Given the description of an element on the screen output the (x, y) to click on. 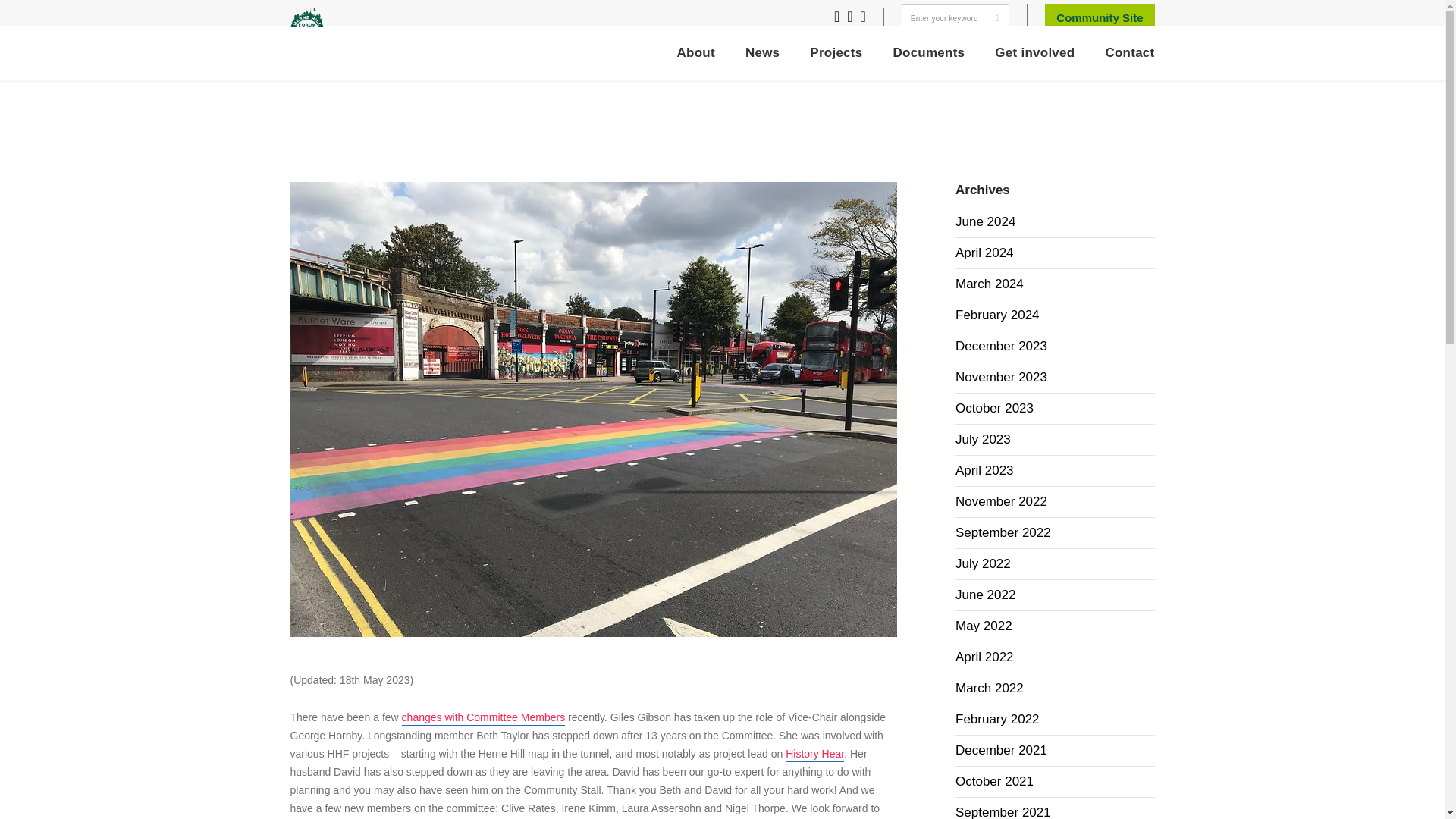
Contact (1129, 52)
Herne Hill Forum (306, 17)
Projects (835, 52)
Get involved (1034, 52)
Community Site (1099, 18)
RECRUITMENT (1120, 37)
Community Site (1099, 17)
Documents (927, 52)
